Given the description of an element on the screen output the (x, y) to click on. 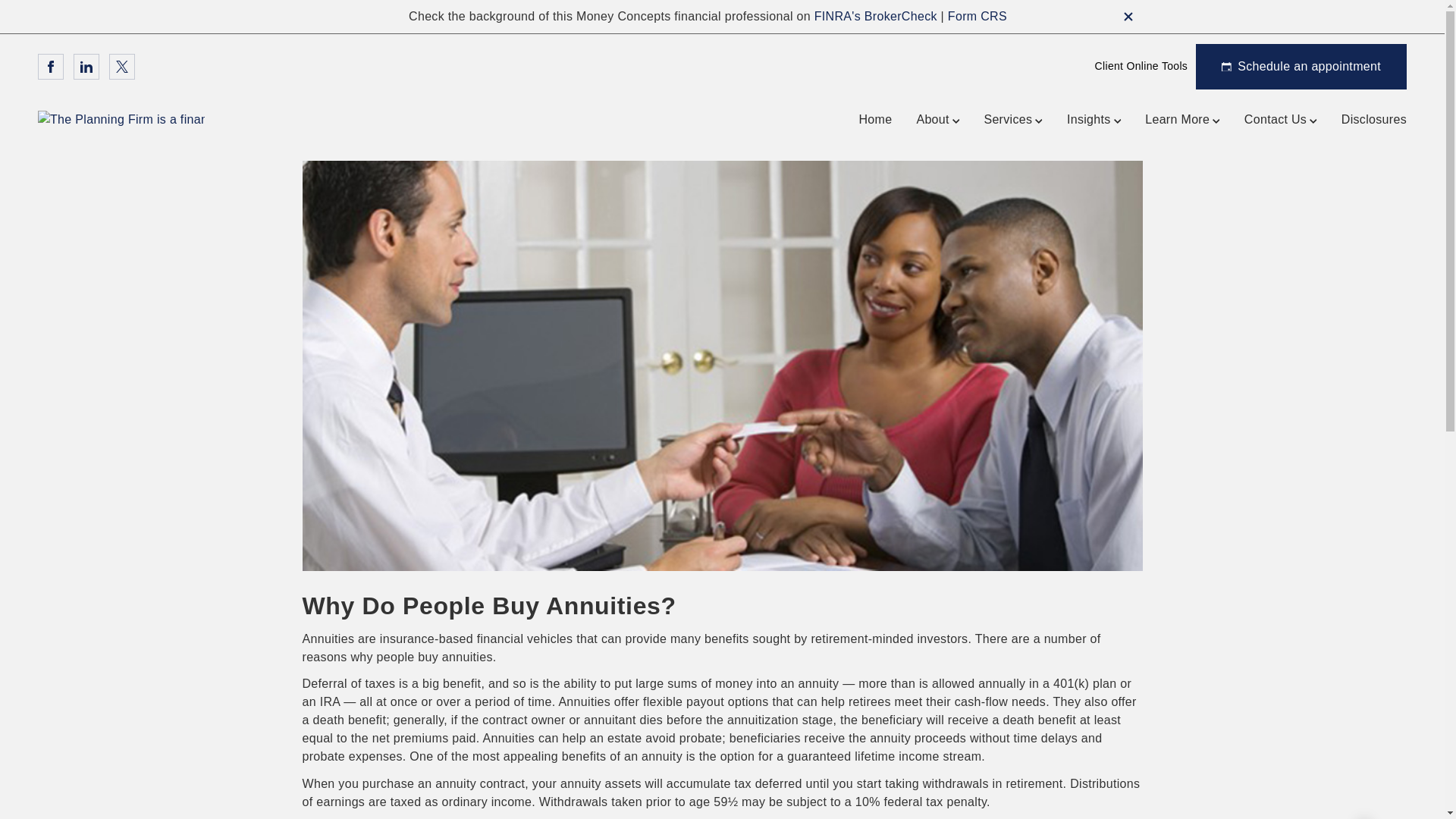
Contact Us (1280, 119)
About (937, 119)
Schedule an appointment (1300, 66)
Services (1013, 119)
Close BrokerCheck (1128, 16)
Learn More (1182, 119)
Form CRS (977, 15)
Client Online Tools (1138, 66)
Disclosures (1373, 119)
FINRA's BrokerCheck (875, 15)
Home (875, 119)
Insights (1094, 119)
